Given the description of an element on the screen output the (x, y) to click on. 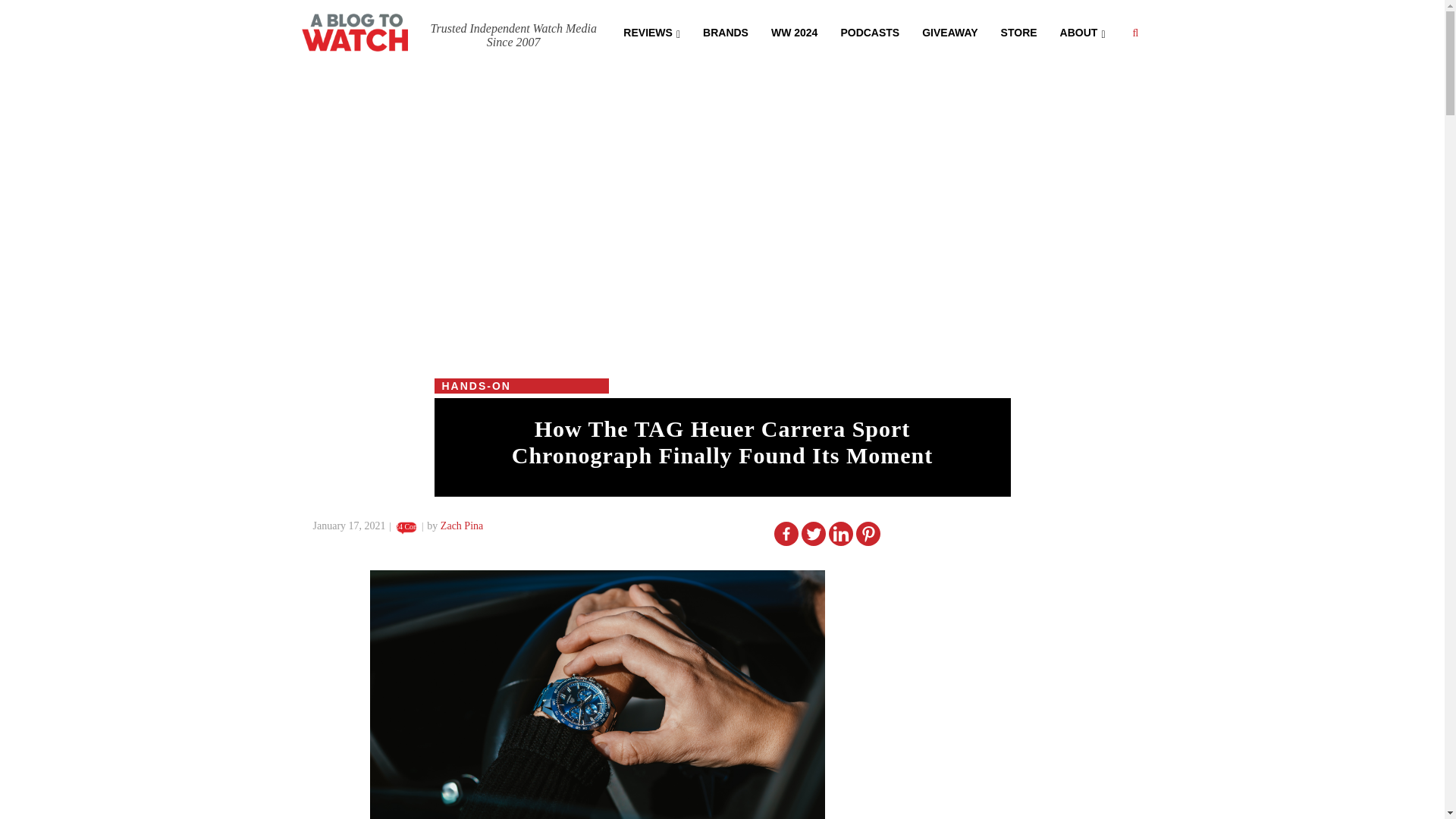
STORE (1019, 31)
ABOUT (1082, 31)
PODCASTS (869, 31)
Wrist Time Watch Reviews (651, 31)
Linkedin (839, 533)
WW 2024 (794, 31)
Twitter (812, 533)
Guides to help you when buying watches (794, 31)
BRANDS (725, 31)
Pinterest (867, 533)
Facebook (785, 533)
REVIEWS (651, 31)
GIVEAWAY (949, 31)
